Given the description of an element on the screen output the (x, y) to click on. 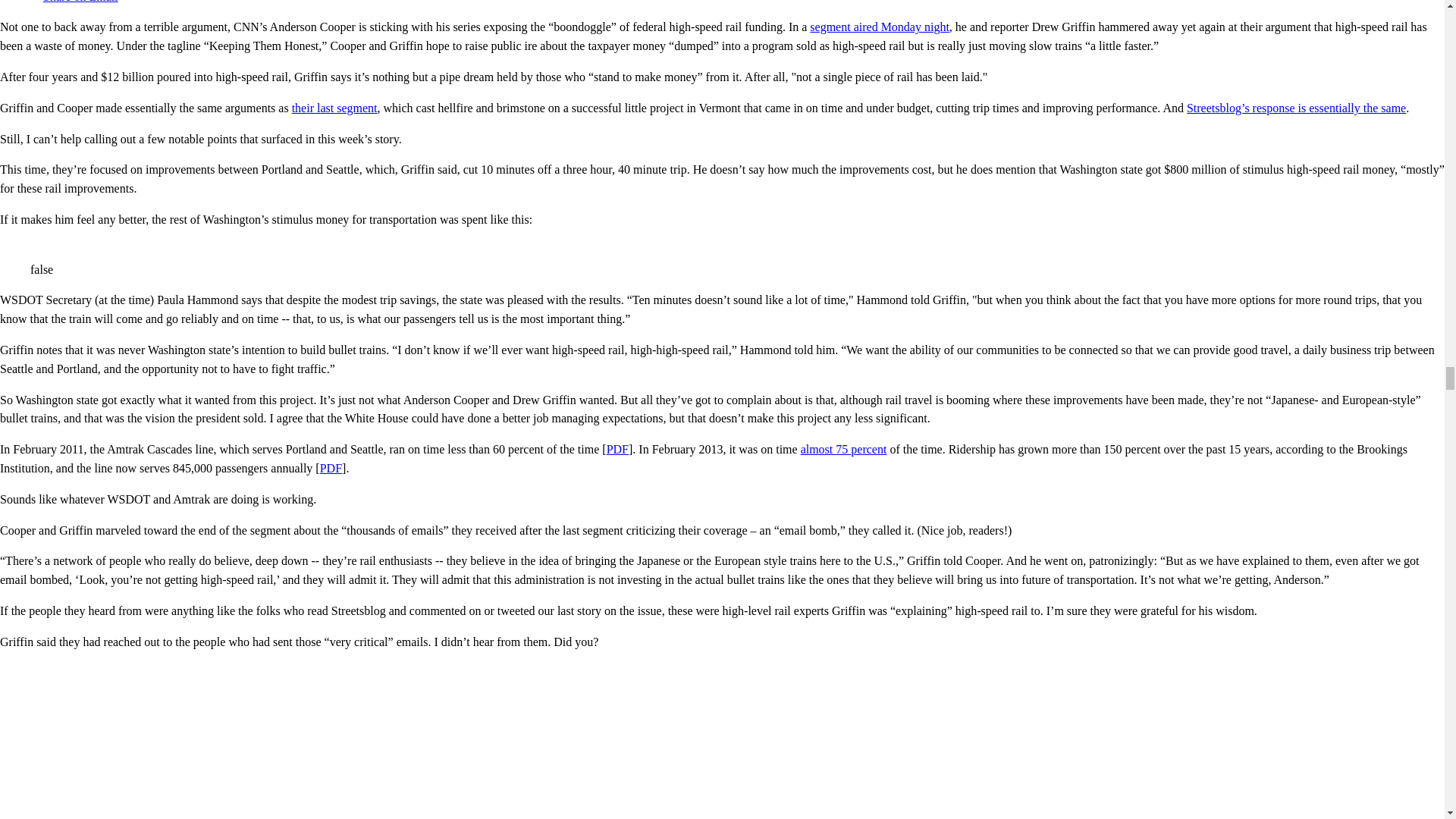
PDF (617, 449)
almost 75 percent (843, 449)
their last segment (334, 107)
segment aired Monday night (879, 26)
Share on Email (73, 1)
PDF (331, 468)
